Given the description of an element on the screen output the (x, y) to click on. 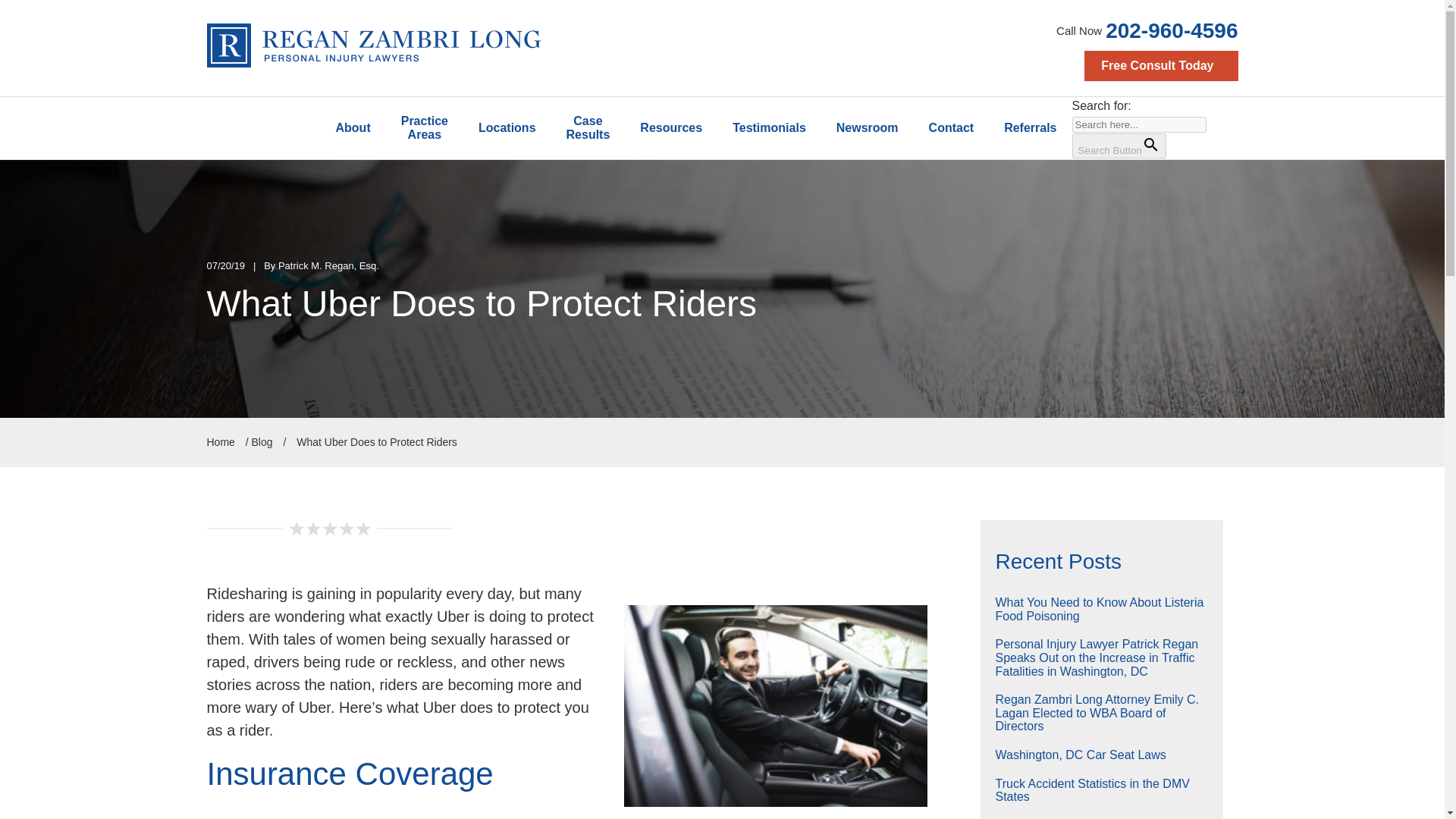
Testimonials (769, 127)
Posts by Patrick M. Regan, Esq. (328, 265)
Free Consult Today (1160, 65)
Referrals (1029, 127)
About (352, 127)
Practice Areas (424, 127)
Resources (670, 127)
Newsroom (867, 127)
Contact (952, 127)
Locations (507, 127)
Meet Our Attorneys (352, 127)
202-960-4596 (1171, 30)
Search Button (1118, 145)
Practice Areas (424, 127)
Case Results (588, 127)
